Given the description of an element on the screen output the (x, y) to click on. 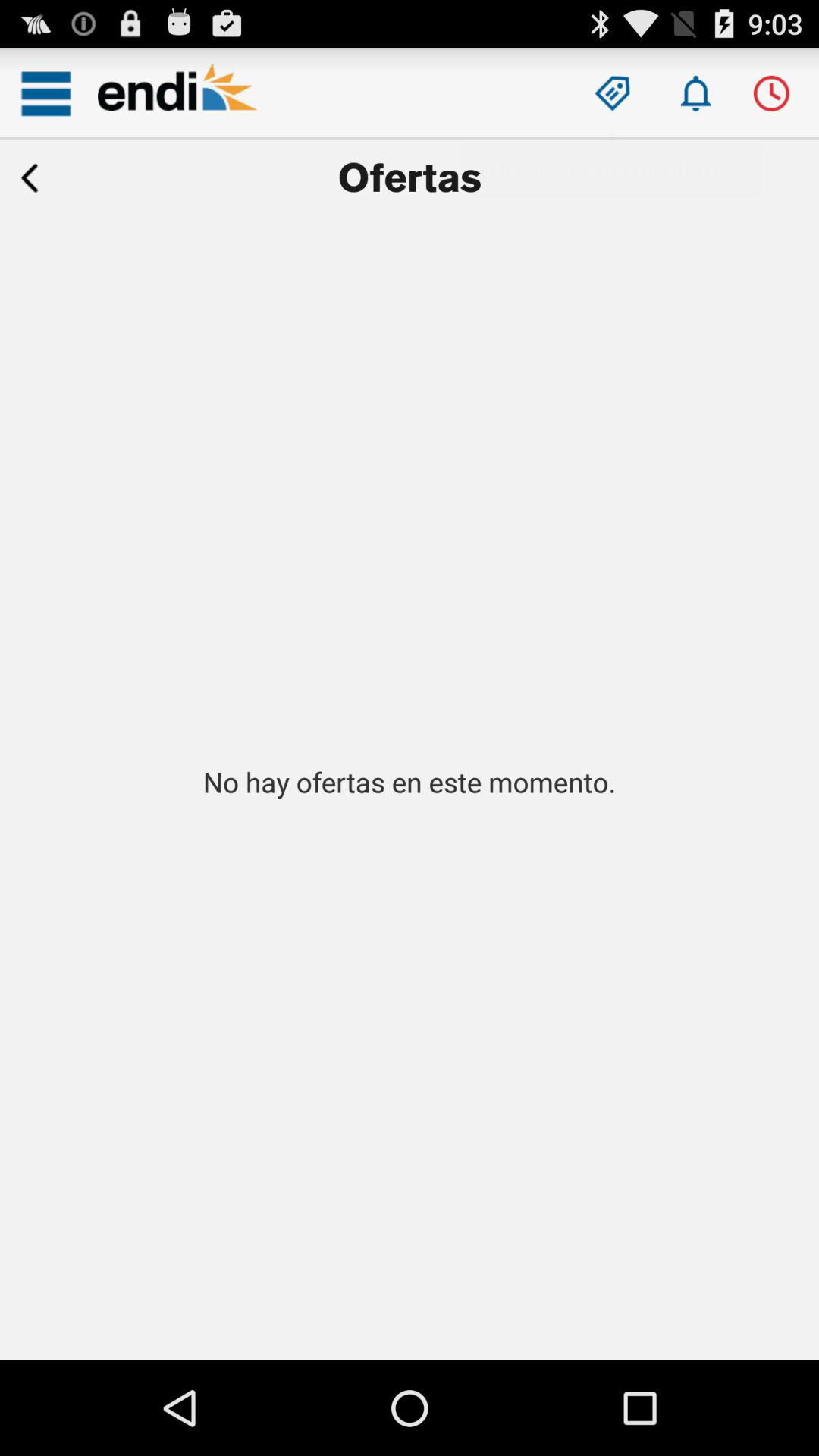
go to home page (177, 93)
